Given the description of an element on the screen output the (x, y) to click on. 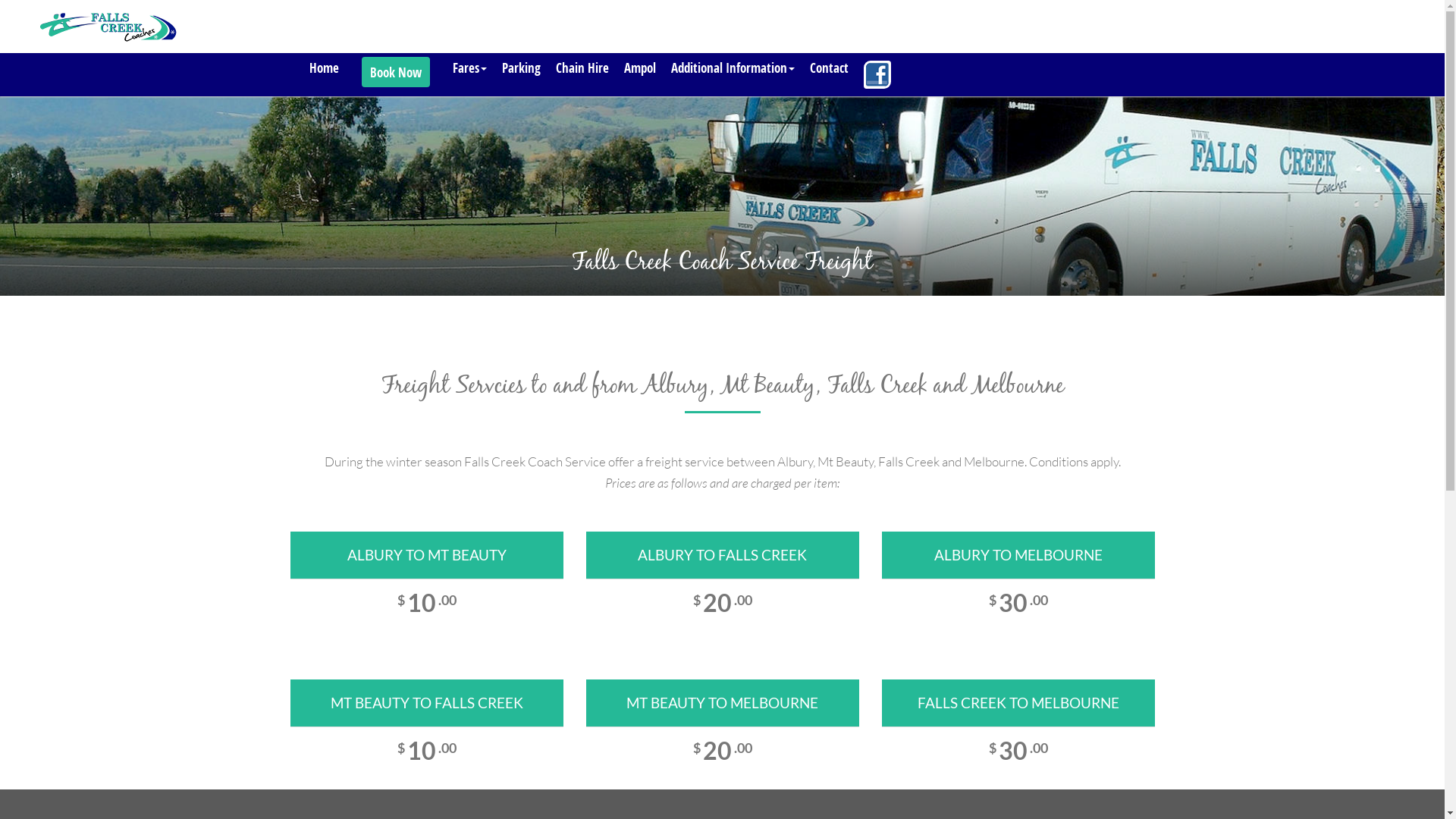
Parking Element type: text (521, 68)
Ampol Element type: text (638, 68)
Book Now Element type: text (394, 71)
Additional Information Element type: text (731, 68)
Fares Element type: text (468, 68)
Home Element type: text (323, 68)
Chain Hire Element type: text (581, 68)
Contact Element type: text (829, 68)
